Given the description of an element on the screen output the (x, y) to click on. 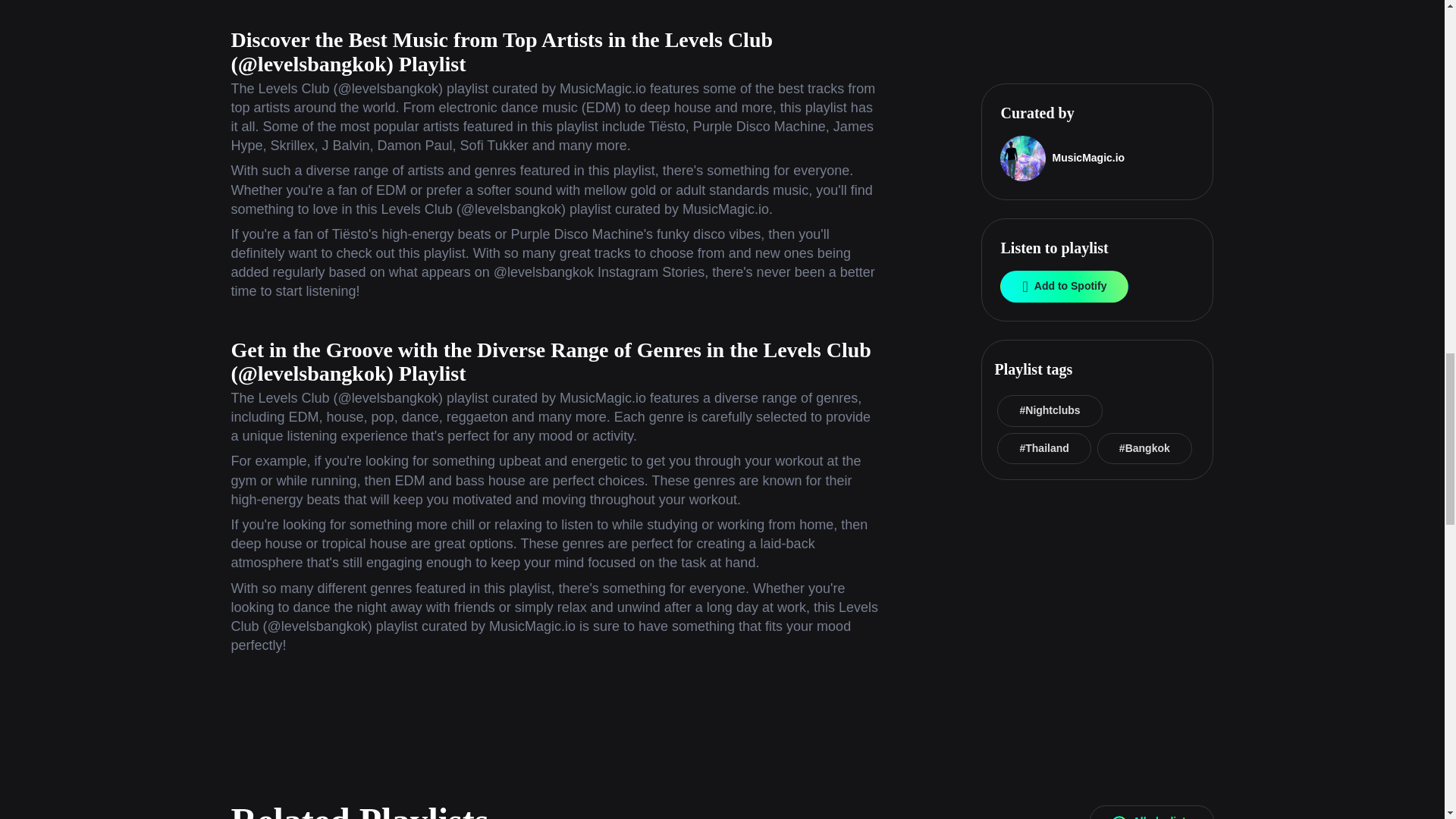
All playlists (1151, 812)
